Given the description of an element on the screen output the (x, y) to click on. 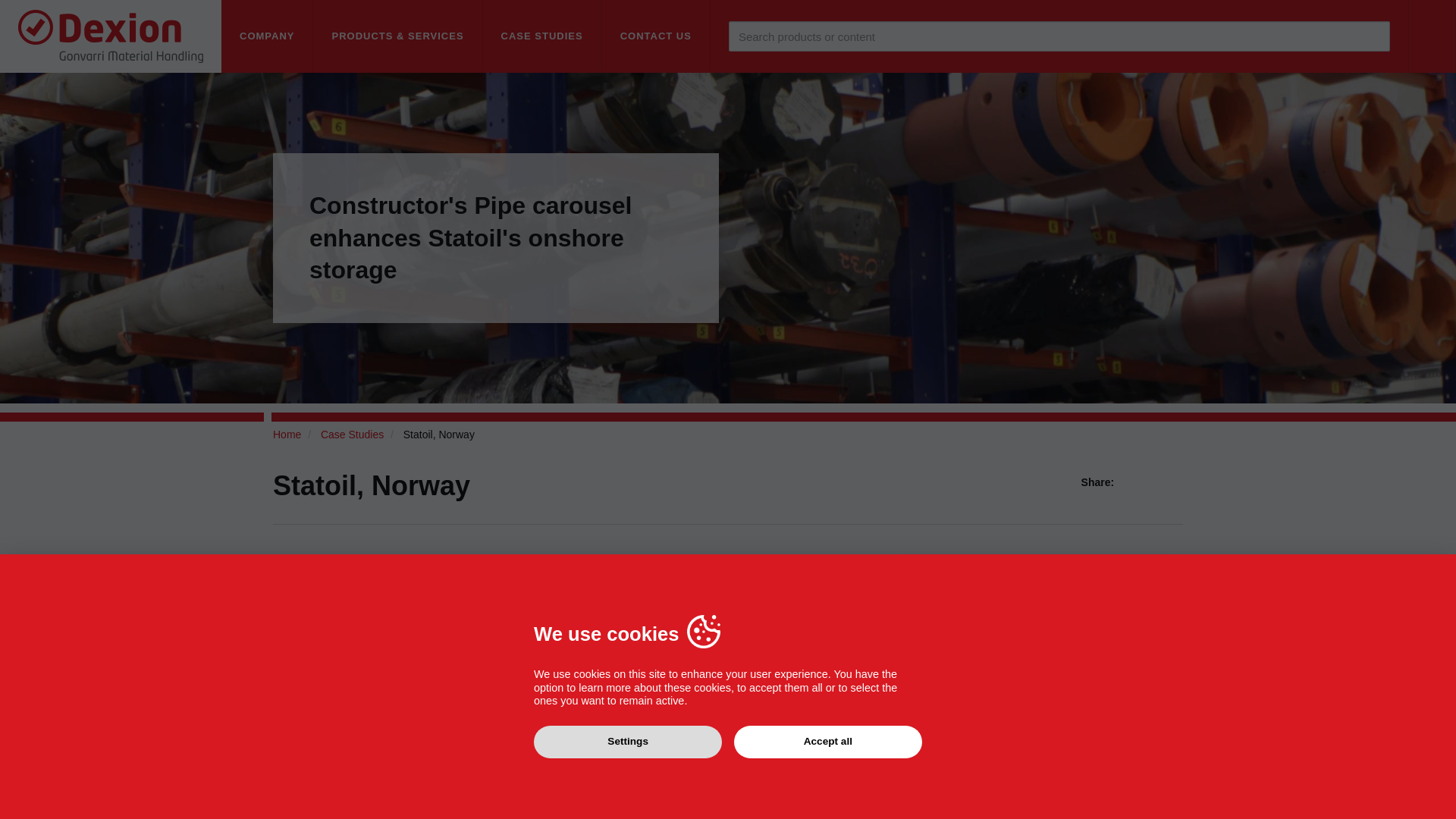
shareIcon.NetworkName (1133, 481)
shareIcon.NetworkName (1153, 481)
Dexion Storage Solutions (110, 36)
Company (267, 36)
COMPANY (267, 36)
Case studies (542, 36)
shareIcon.NetworkName (1174, 481)
Contact Us (656, 36)
